Given the description of an element on the screen output the (x, y) to click on. 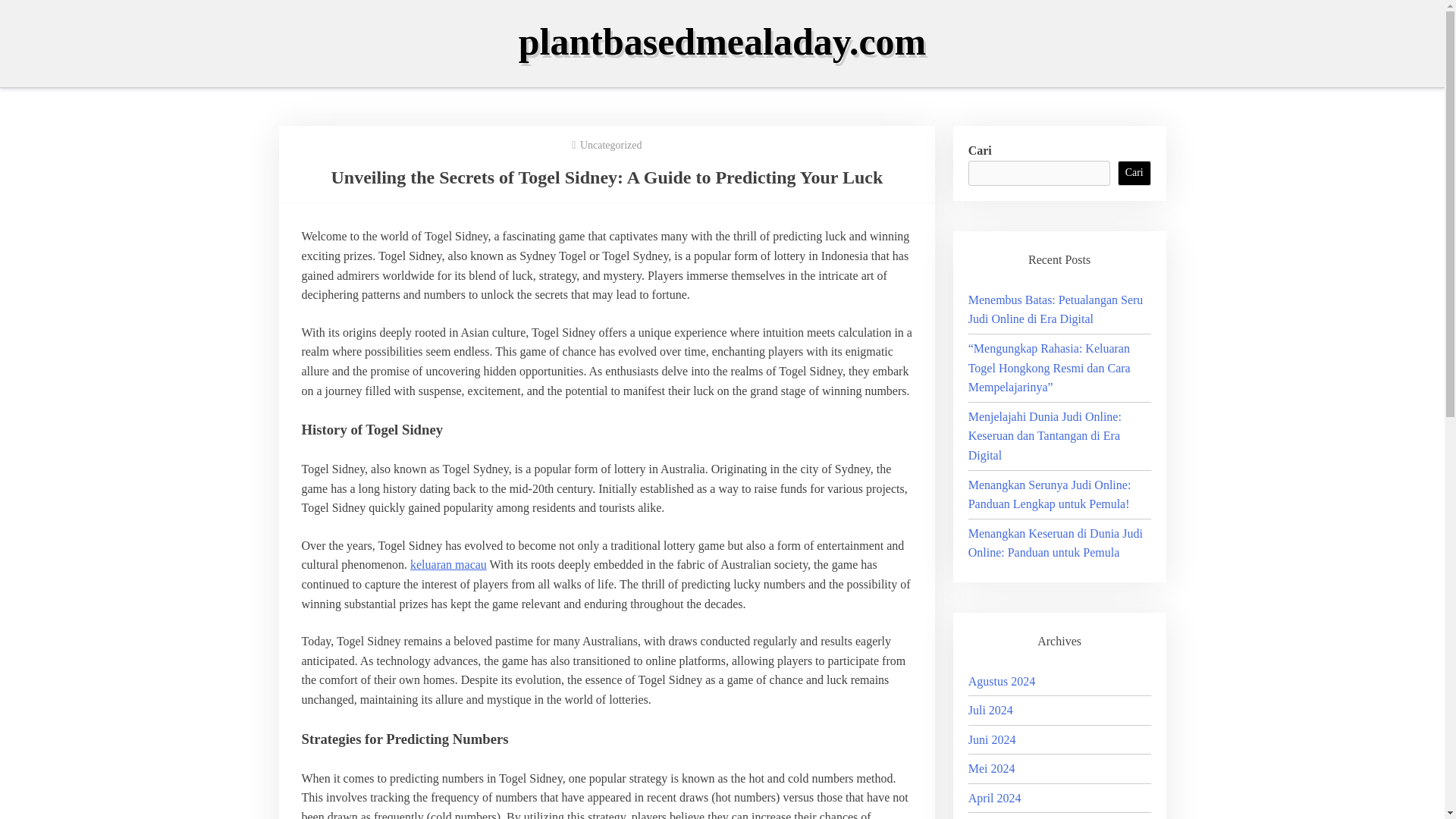
Cari (1134, 173)
keluaran macau (448, 563)
Juni 2024 (992, 739)
Menembus Batas: Petualangan Seru Judi Online di Era Digital (1055, 309)
Mei 2024 (991, 768)
Juli 2024 (990, 709)
plantbasedmealaday.com (722, 41)
Menangkan Serunya Judi Online: Panduan Lengkap untuk Pemula! (1049, 494)
Uncategorized (610, 144)
